Given the description of an element on the screen output the (x, y) to click on. 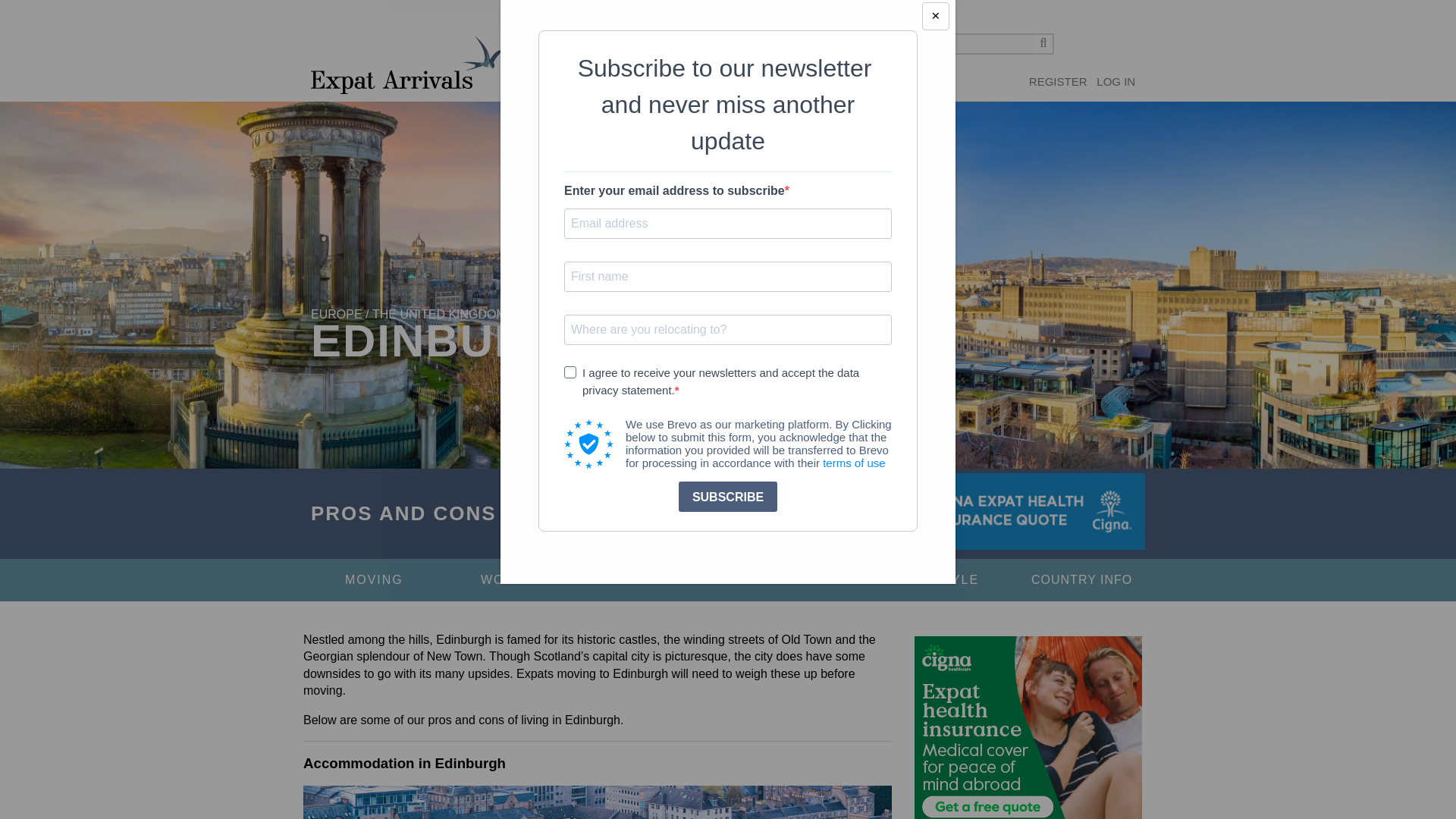
GUIDES (634, 90)
Sign me up (1058, 81)
LOG IN (1115, 81)
Enter the terms you wish to search for. (967, 43)
REGISTER (1058, 81)
Search (1043, 43)
FORUM (583, 90)
Search (1043, 43)
EUROPE (336, 314)
HOME (538, 90)
Home (406, 65)
